Given the description of an element on the screen output the (x, y) to click on. 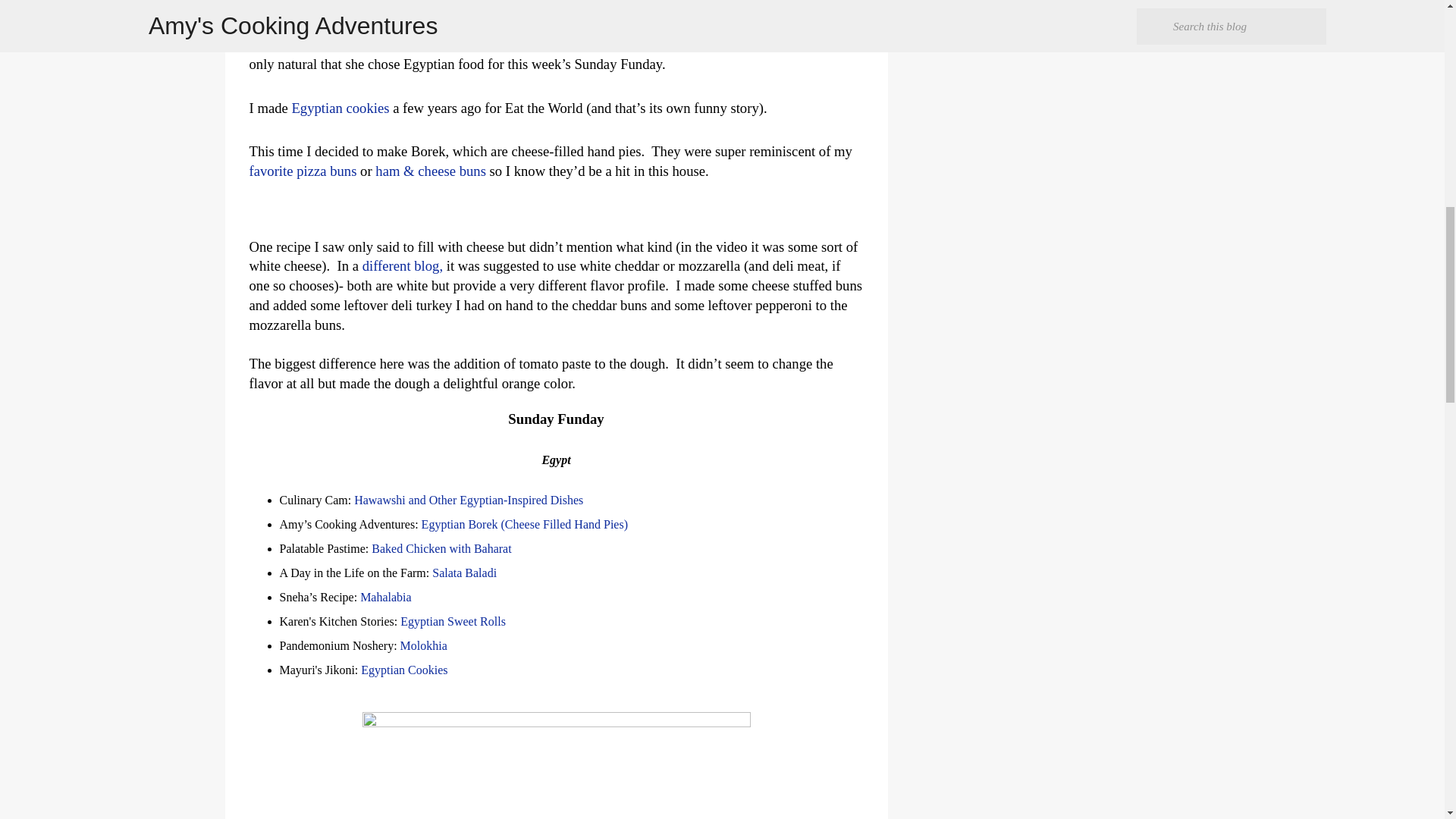
Egyptian cookies (339, 107)
Salata Baladi  (465, 572)
Hawawshi and Other Egyptian-Inspired Dishes (468, 499)
different blog, (402, 265)
Baked Chicken with Baharat  (442, 548)
Mahalabia (385, 596)
favorite pizza buns (302, 170)
Egyptian Cookies (403, 669)
 Egyptian Sweet Rolls (451, 621)
Molokhia (423, 645)
